Given the description of an element on the screen output the (x, y) to click on. 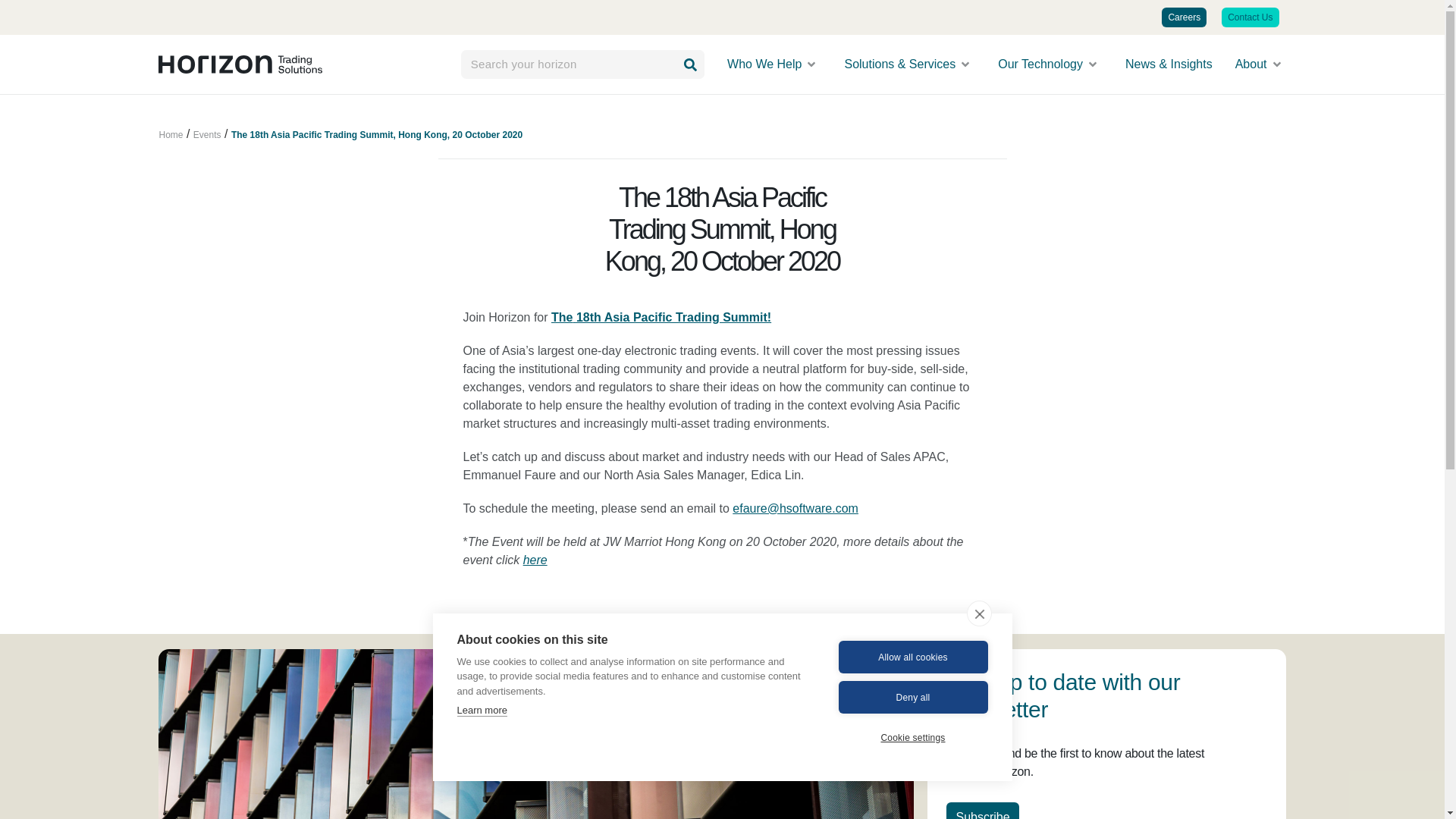
Contact Us (1249, 17)
Our Technology (1048, 64)
Who We Help (771, 64)
About (1258, 64)
Careers (1184, 17)
